Given the description of an element on the screen output the (x, y) to click on. 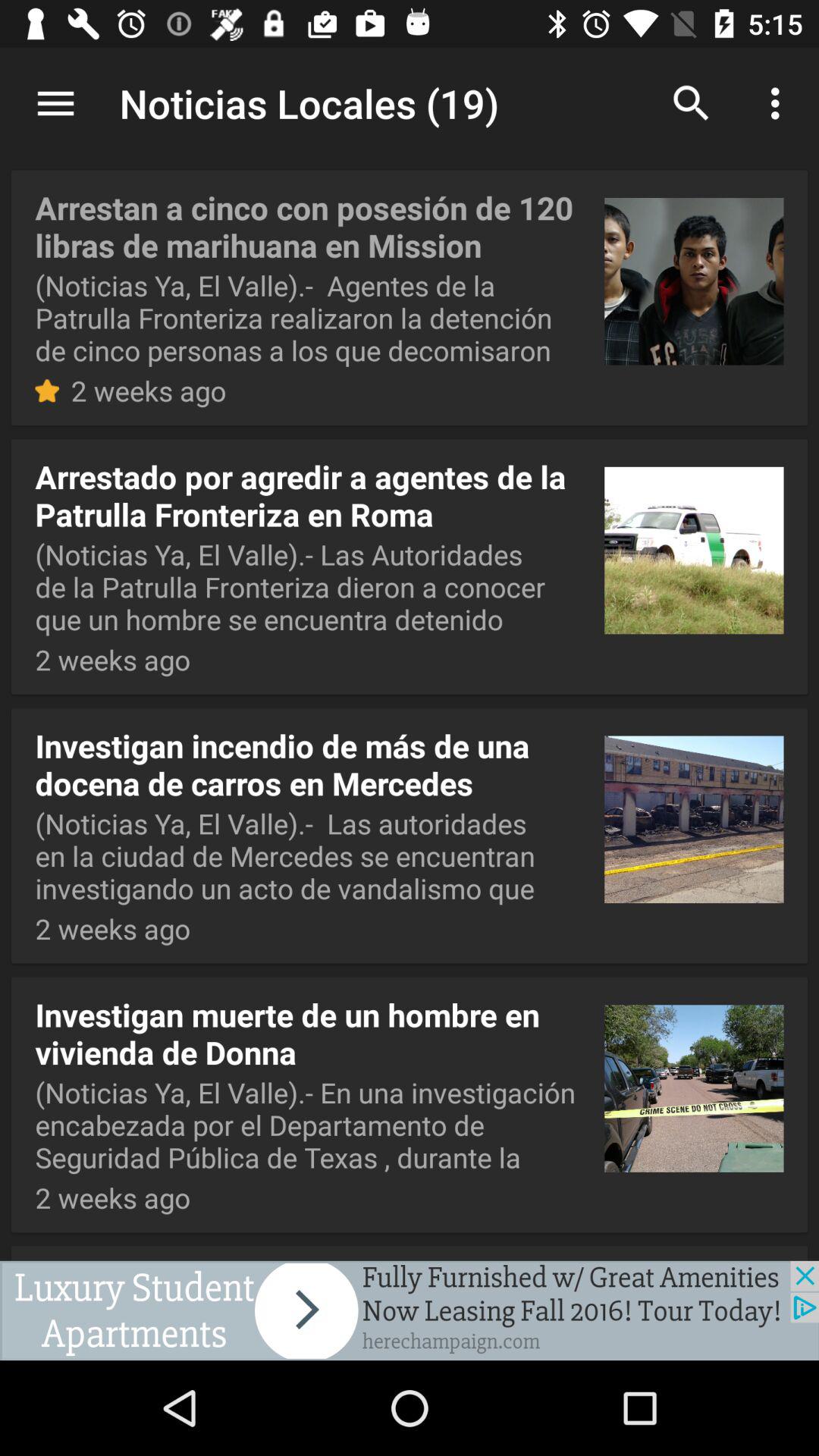
advertisement (409, 1310)
